Given the description of an element on the screen output the (x, y) to click on. 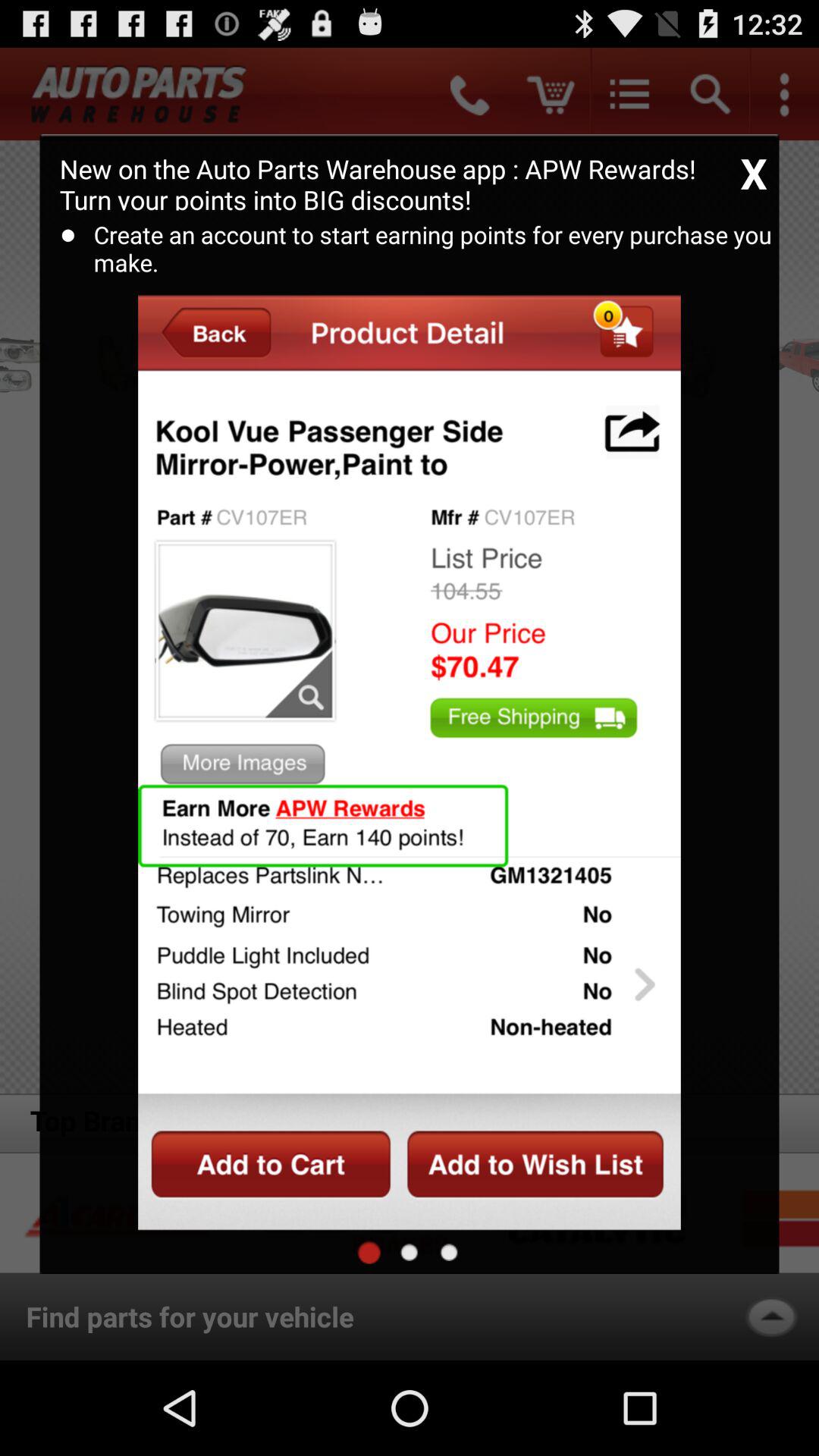
toggle to information/description page for the item (449, 1251)
